Given the description of an element on the screen output the (x, y) to click on. 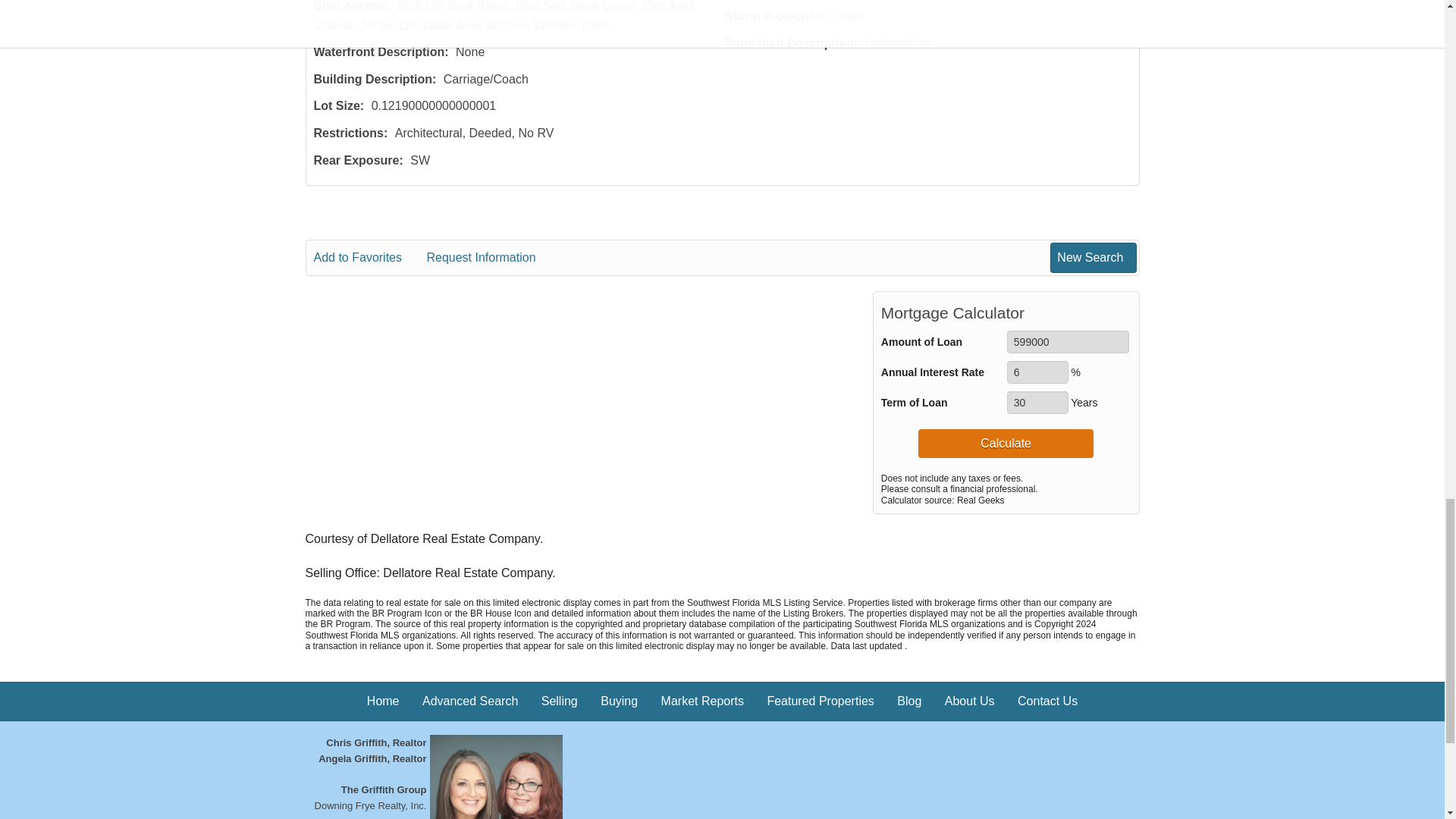
6 (1037, 372)
30 (1037, 402)
599000 (1068, 341)
